Given the description of an element on the screen output the (x, y) to click on. 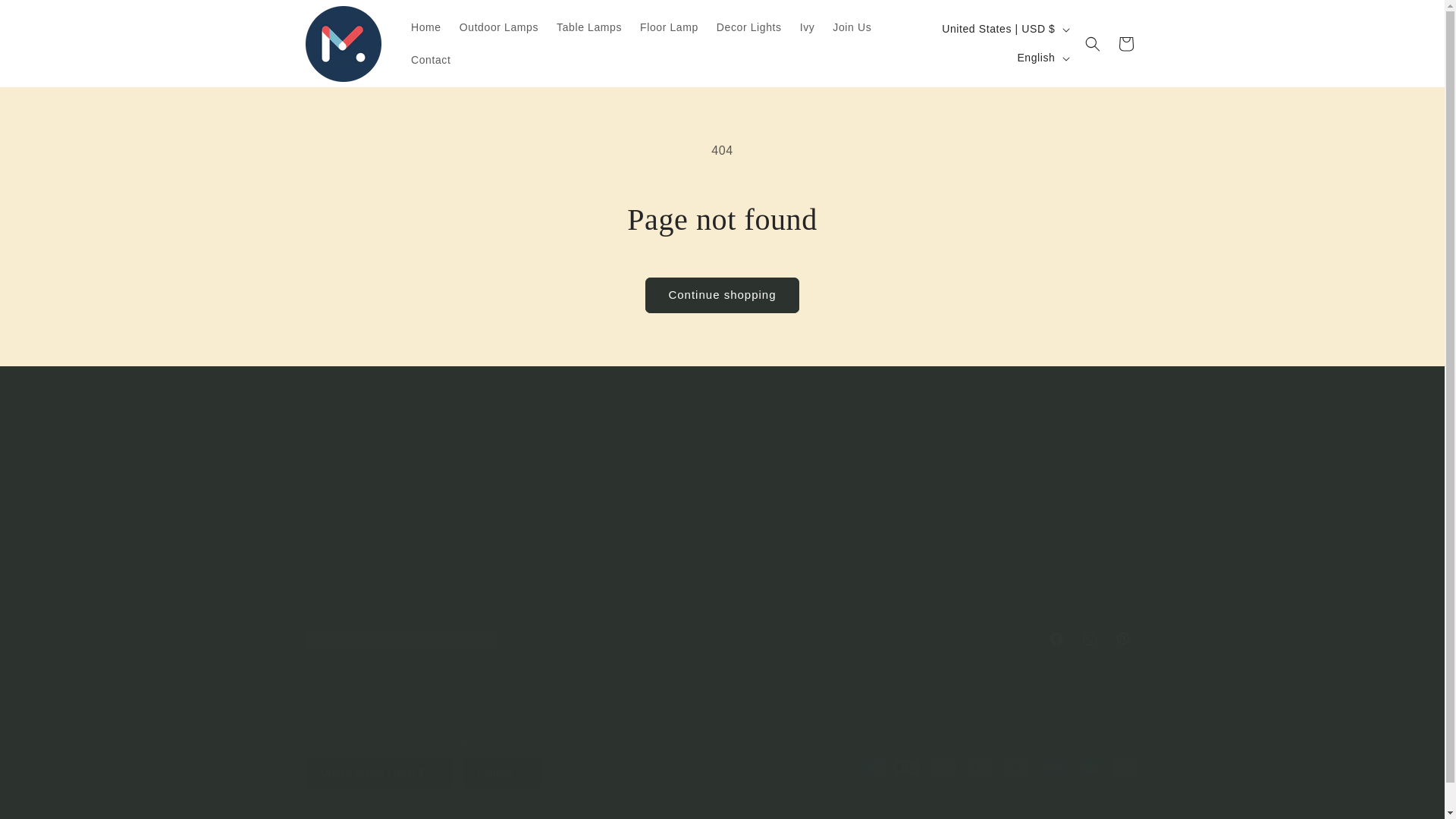
Ivy (807, 27)
Contact (430, 60)
Skip to content (721, 638)
About Masdio (45, 17)
Contact (764, 466)
Cart (748, 493)
Floor Lamp (1124, 43)
Climate Commitment (668, 27)
English (783, 546)
Table Lamps (1041, 58)
Home (588, 27)
Decor Lights (425, 27)
Join Us (748, 27)
